Given the description of an element on the screen output the (x, y) to click on. 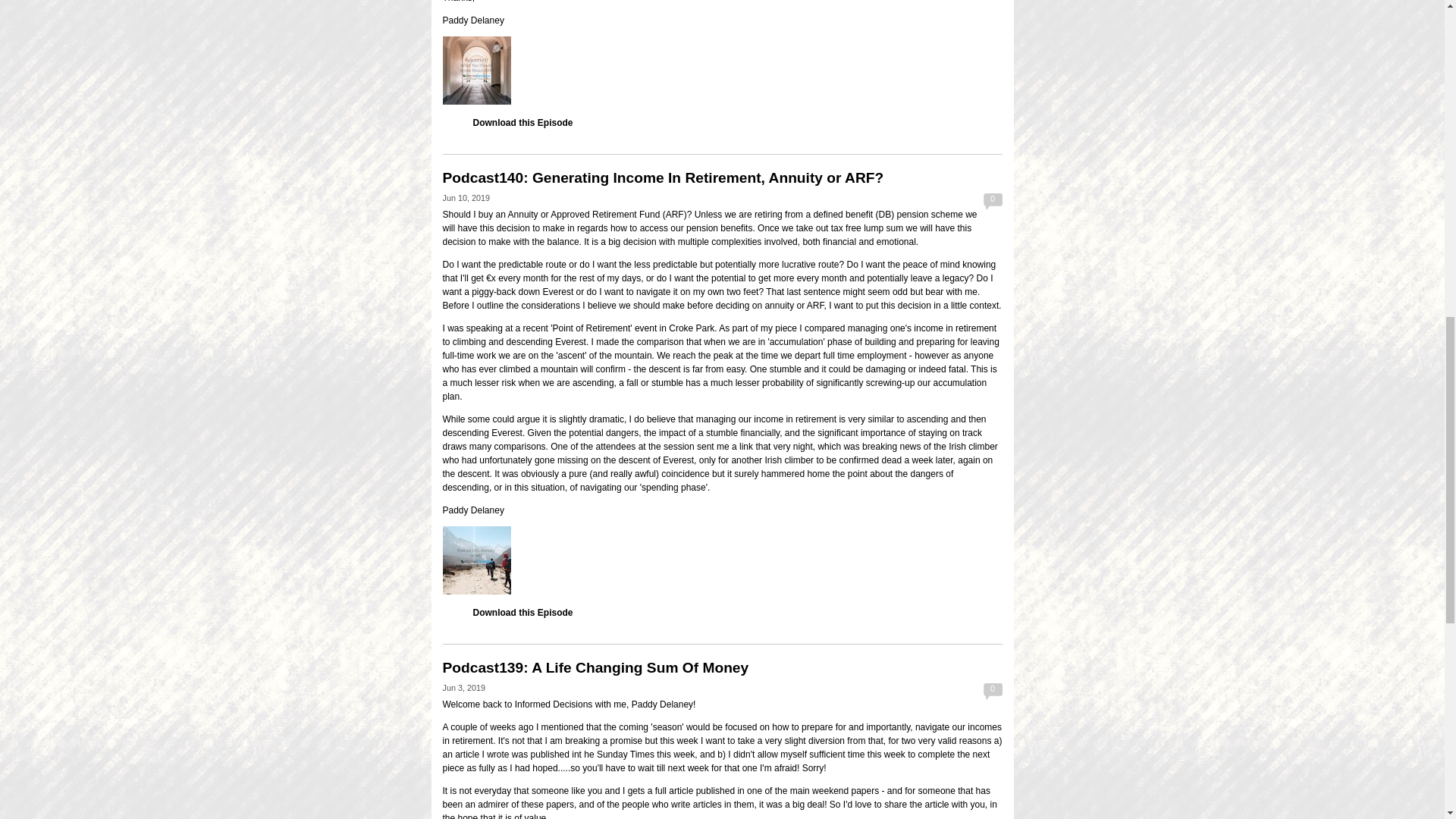
Libsyn Player (722, 70)
Libsyn Player (722, 560)
